Given the description of an element on the screen output the (x, y) to click on. 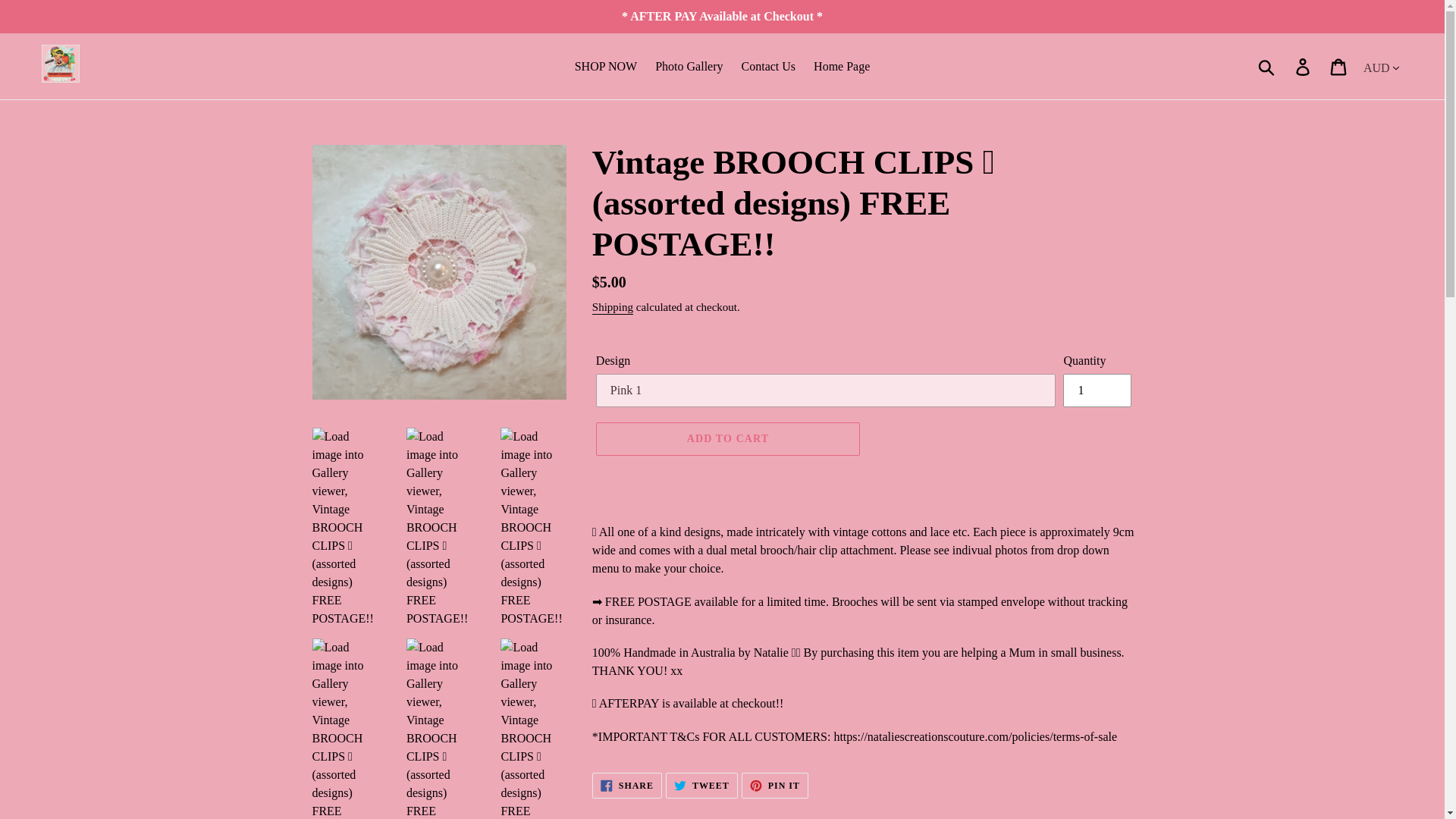
1 (1096, 390)
Log in (1303, 66)
SHOP NOW (606, 66)
Contact Us (768, 66)
Cart (1339, 66)
Home Page (841, 66)
Photo Gallery (688, 66)
Submit (1267, 66)
